Given the description of an element on the screen output the (x, y) to click on. 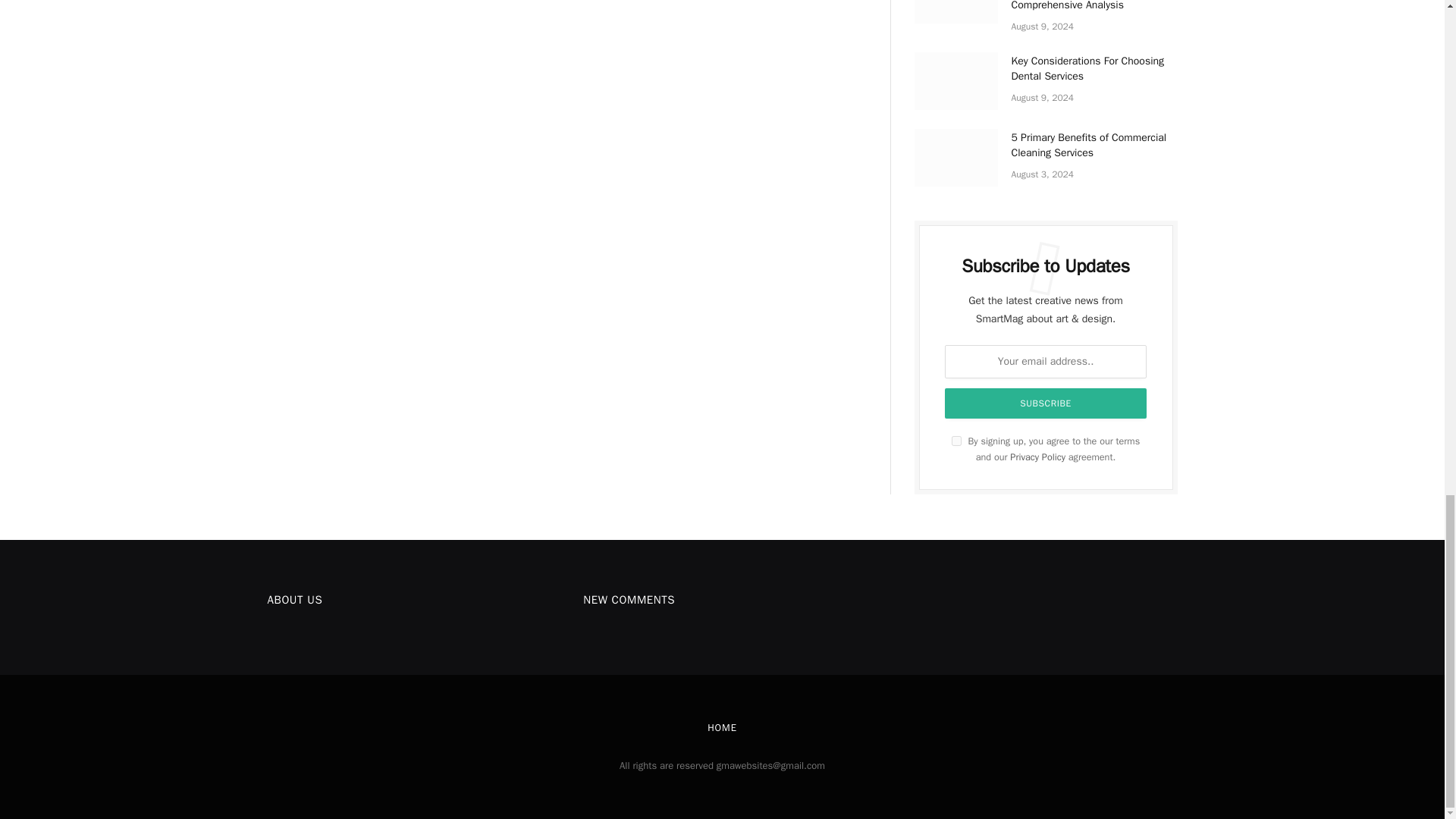
Subscribe (1045, 403)
5 Primary Benefits of Commercial Cleaning Services (955, 157)
Key Considerations For Choosing Dental Services (955, 80)
on (956, 440)
